Given the description of an element on the screen output the (x, y) to click on. 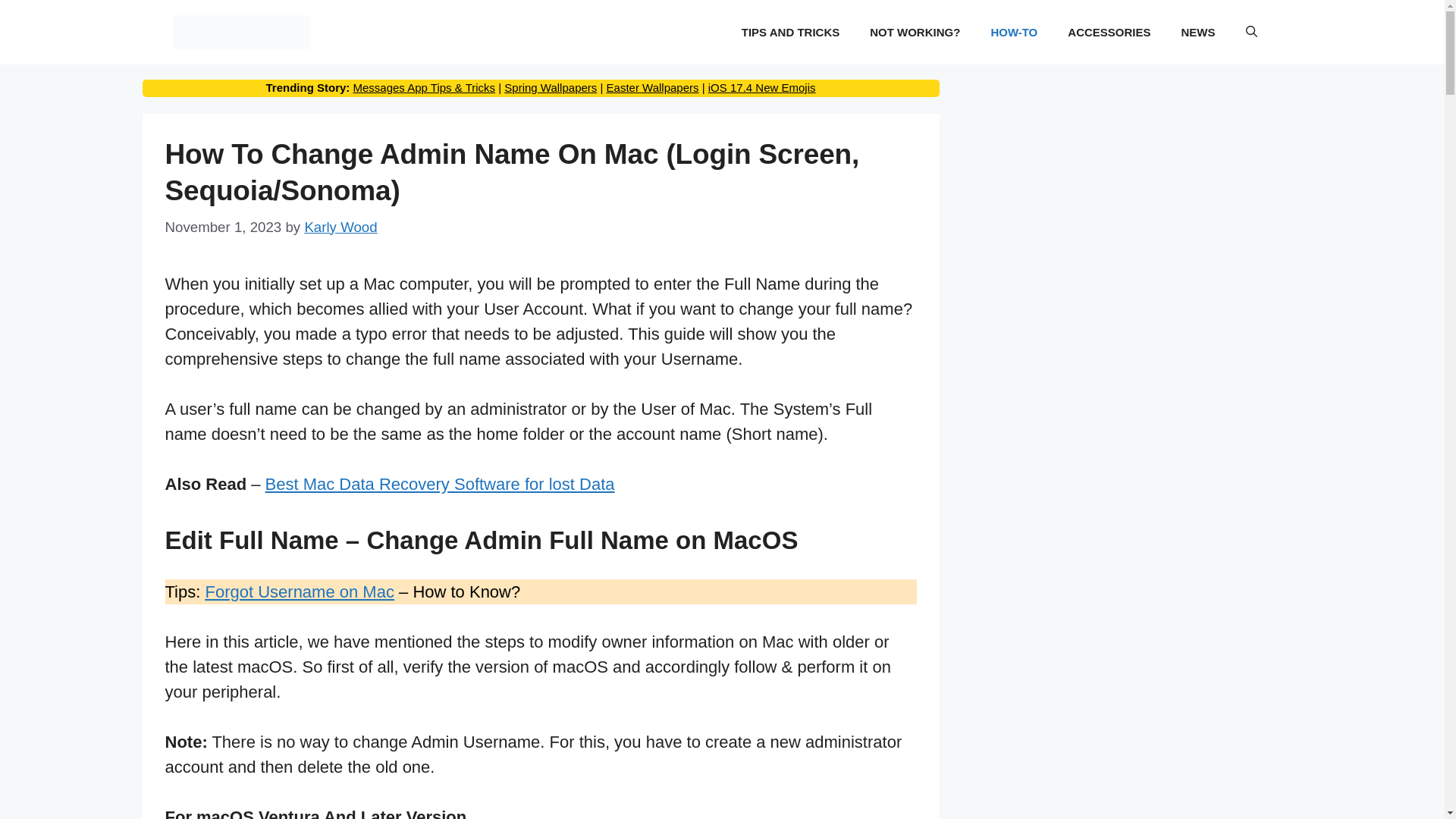
NOT WORKING? (914, 31)
Karly Wood (340, 227)
HOW-TO (1013, 31)
Best Mac Data Recovery Software for lost Data (439, 484)
Easter Wallpapers (652, 87)
Best Mac Data Recovery Software for lost Data - 2015 (439, 484)
ACCESSORIES (1109, 31)
Forgot Username on Mac (299, 591)
iOS 17.4 New Emojis (761, 87)
NEWS (1198, 31)
TIPS AND TRICKS (790, 31)
View all posts by Karly Wood (340, 227)
Spring Wallpapers (549, 87)
